Given the description of an element on the screen output the (x, y) to click on. 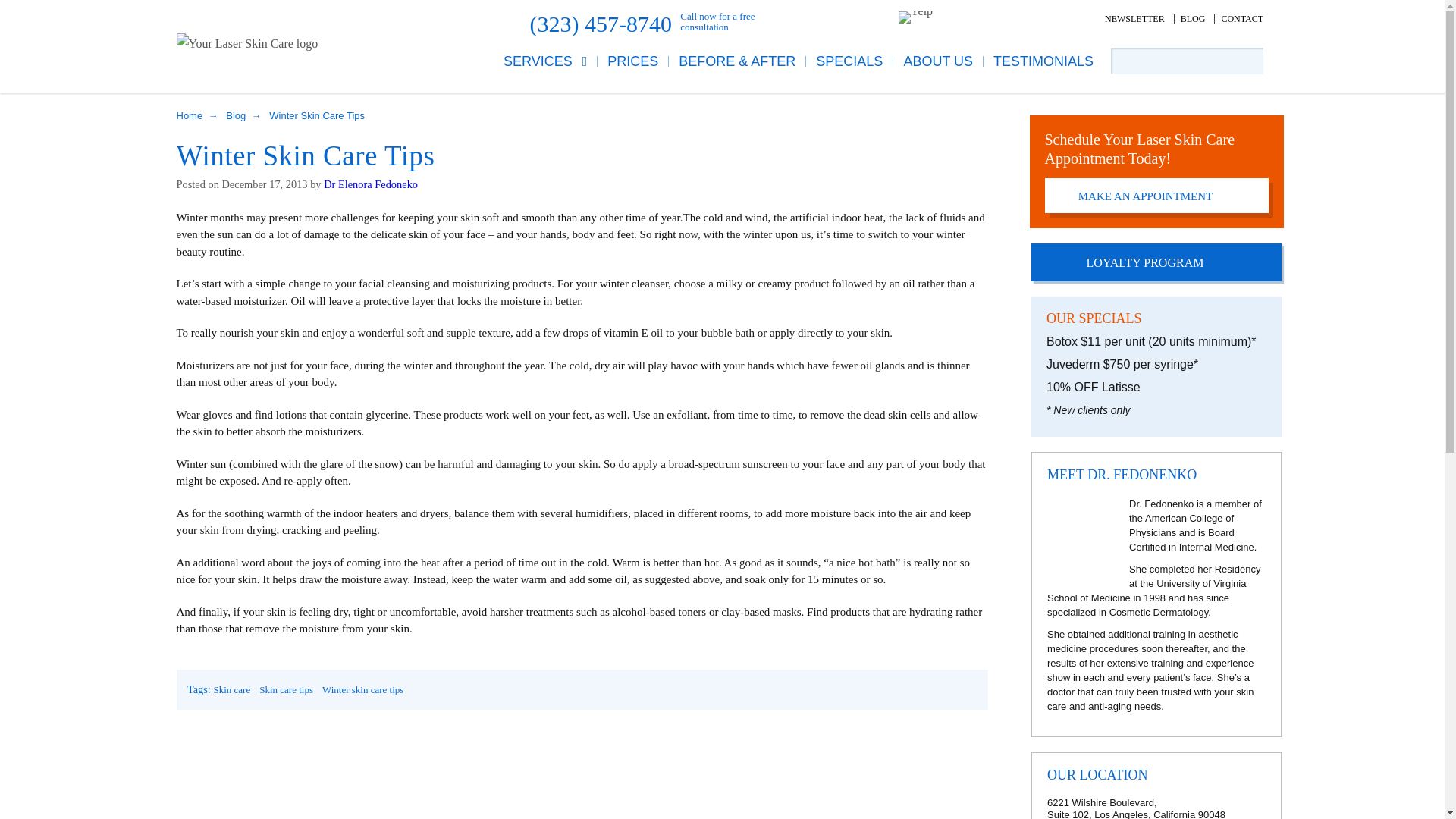
logo (246, 43)
BLOG (1192, 18)
NEWSLETTER (1134, 18)
SERVICES (549, 61)
CONTACT (1242, 18)
